Given the description of an element on the screen output the (x, y) to click on. 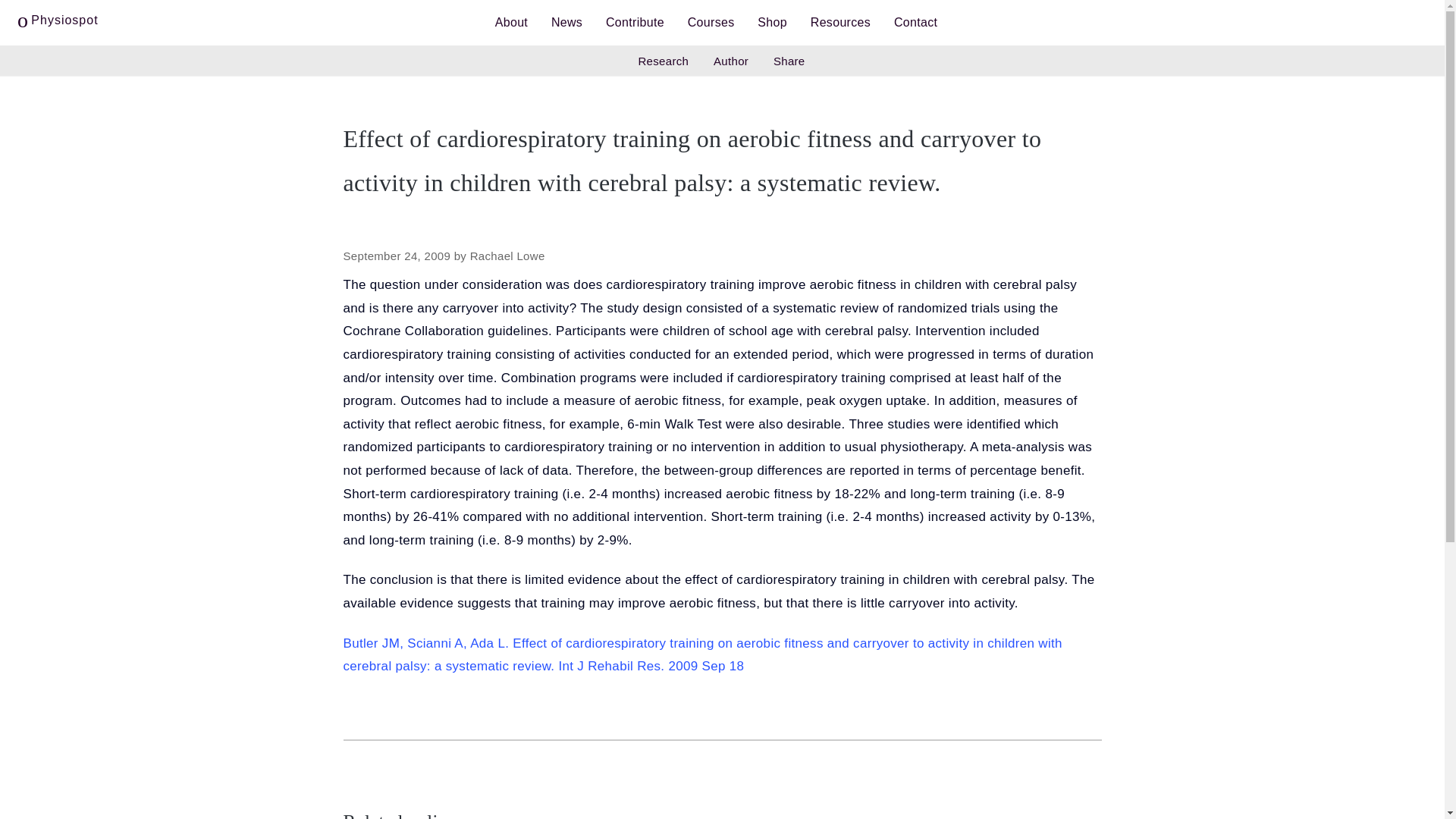
News (566, 22)
Courses (711, 22)
Author (730, 60)
Contribute (634, 22)
Shop (772, 22)
Physiospot (57, 17)
Contact (915, 22)
About (510, 22)
Share (788, 60)
Resources (840, 22)
oPhysiospot (57, 17)
Research (662, 60)
